Given the description of an element on the screen output the (x, y) to click on. 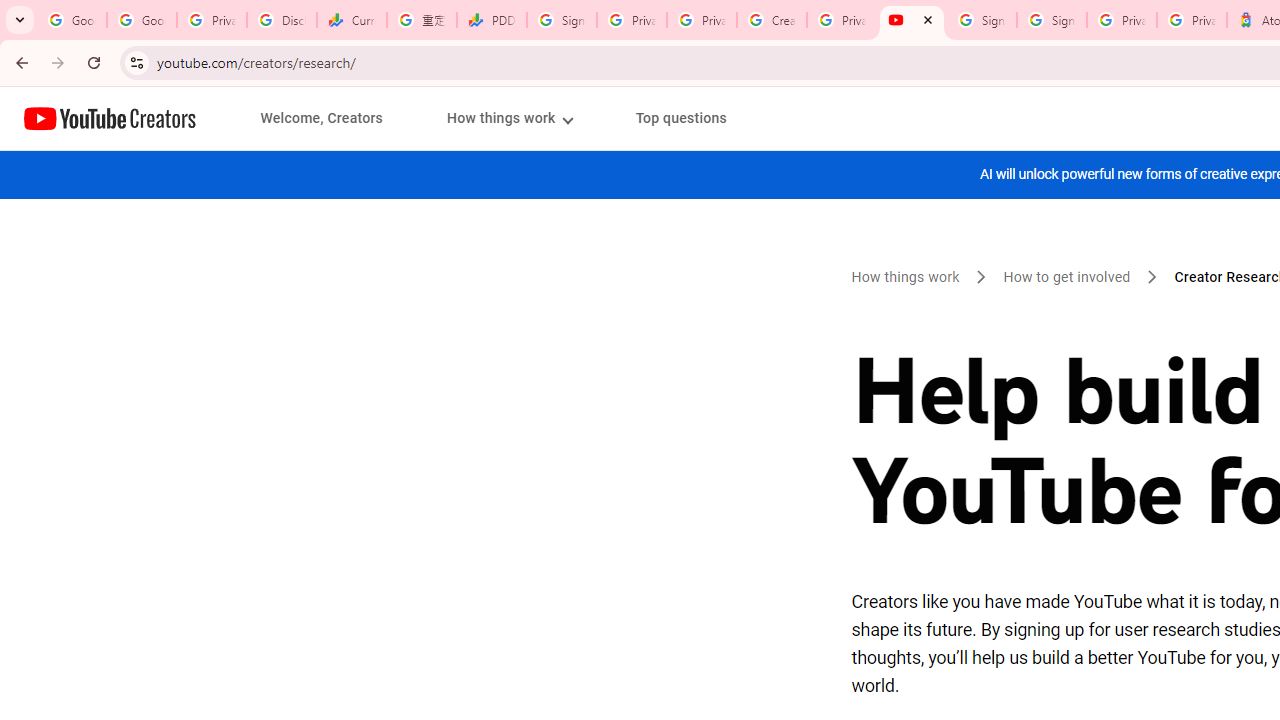
PDD Holdings Inc - ADR (PDD) Price & News - Google Finance (492, 20)
Privacy Checkup (701, 20)
YouTube Creators (110, 118)
